Given the description of an element on the screen output the (x, y) to click on. 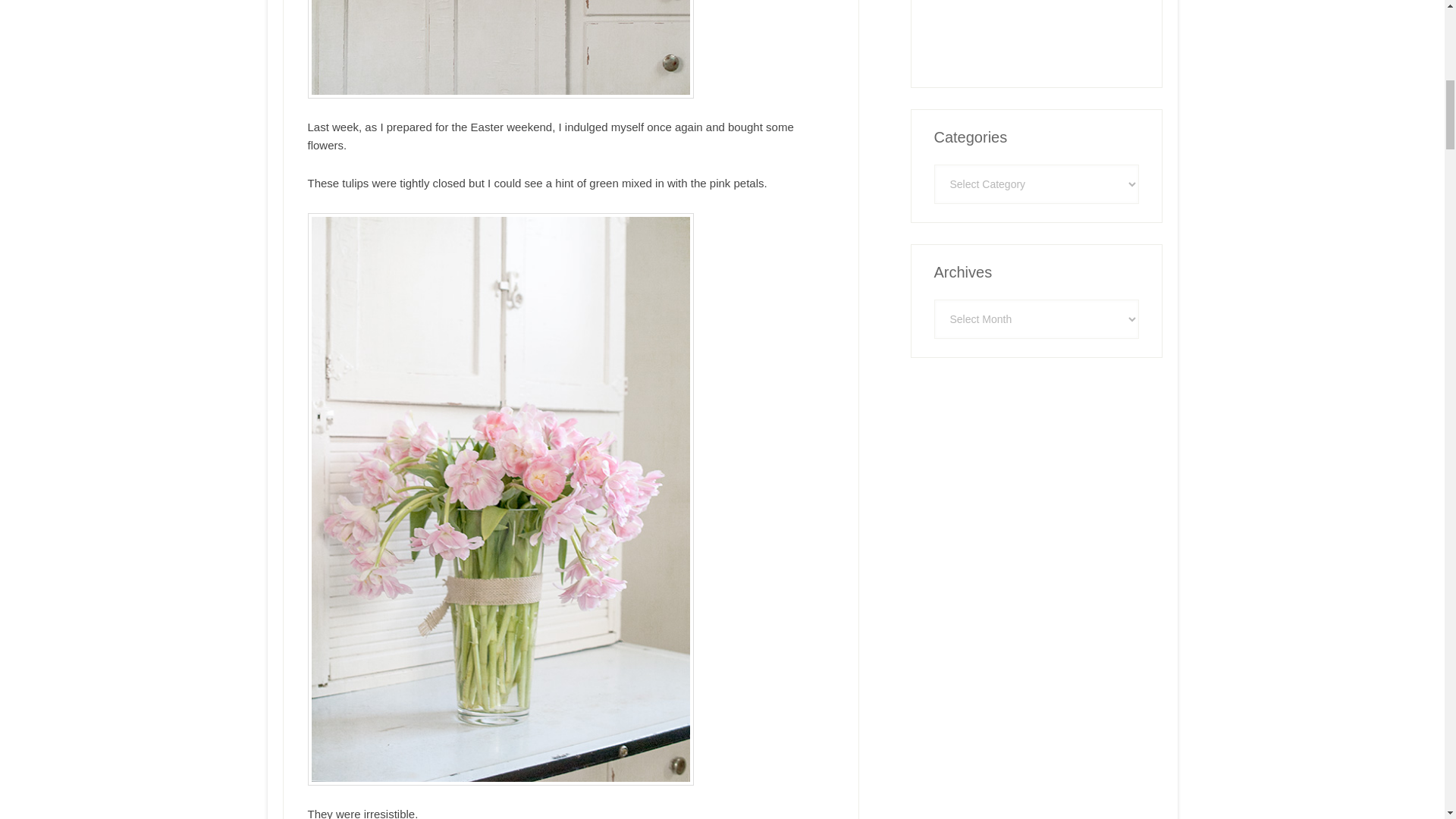
Advertisement (1047, 31)
